Given the description of an element on the screen output the (x, y) to click on. 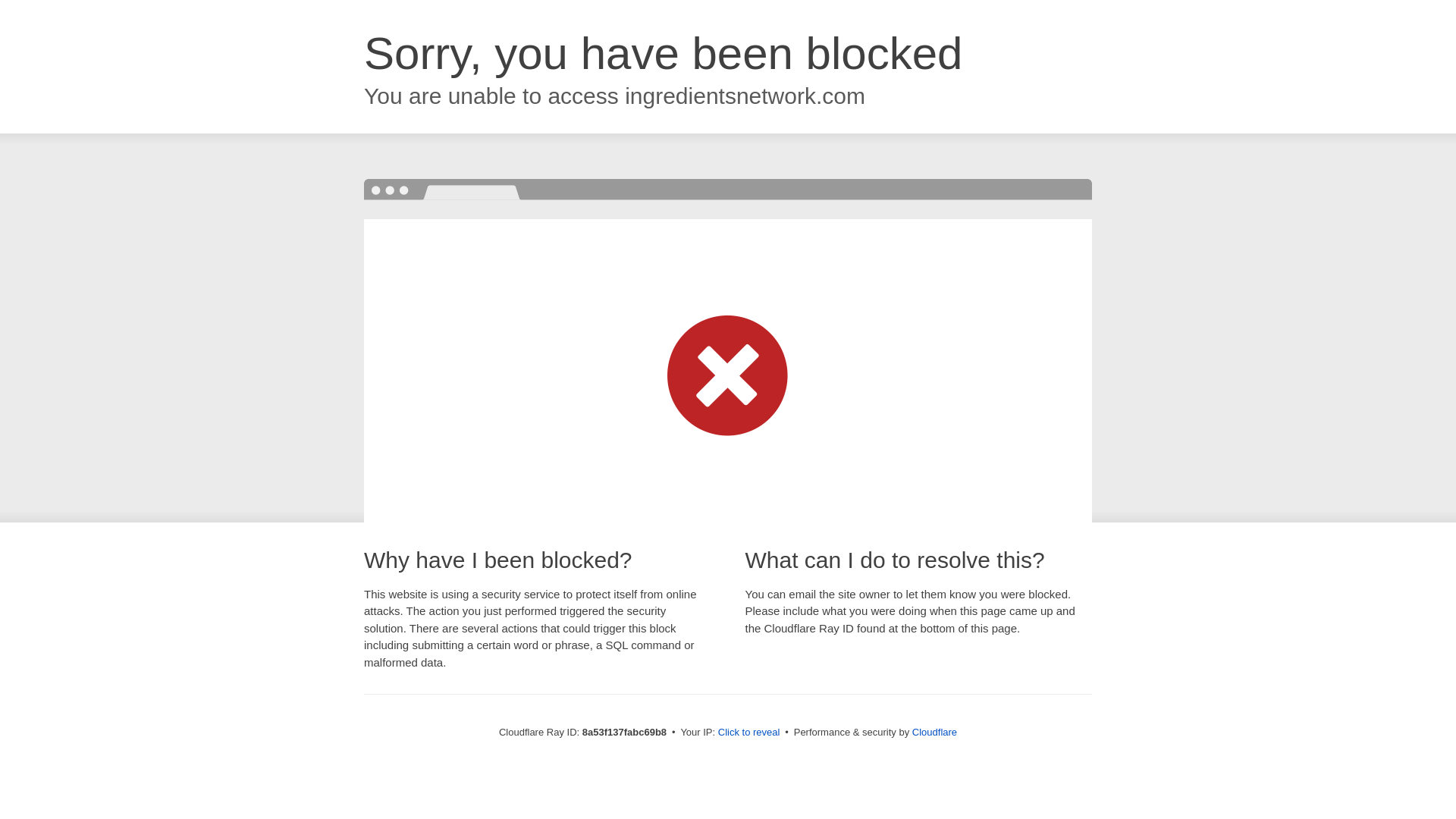
Cloudflare (934, 731)
Click to reveal (748, 732)
